Given the description of an element on the screen output the (x, y) to click on. 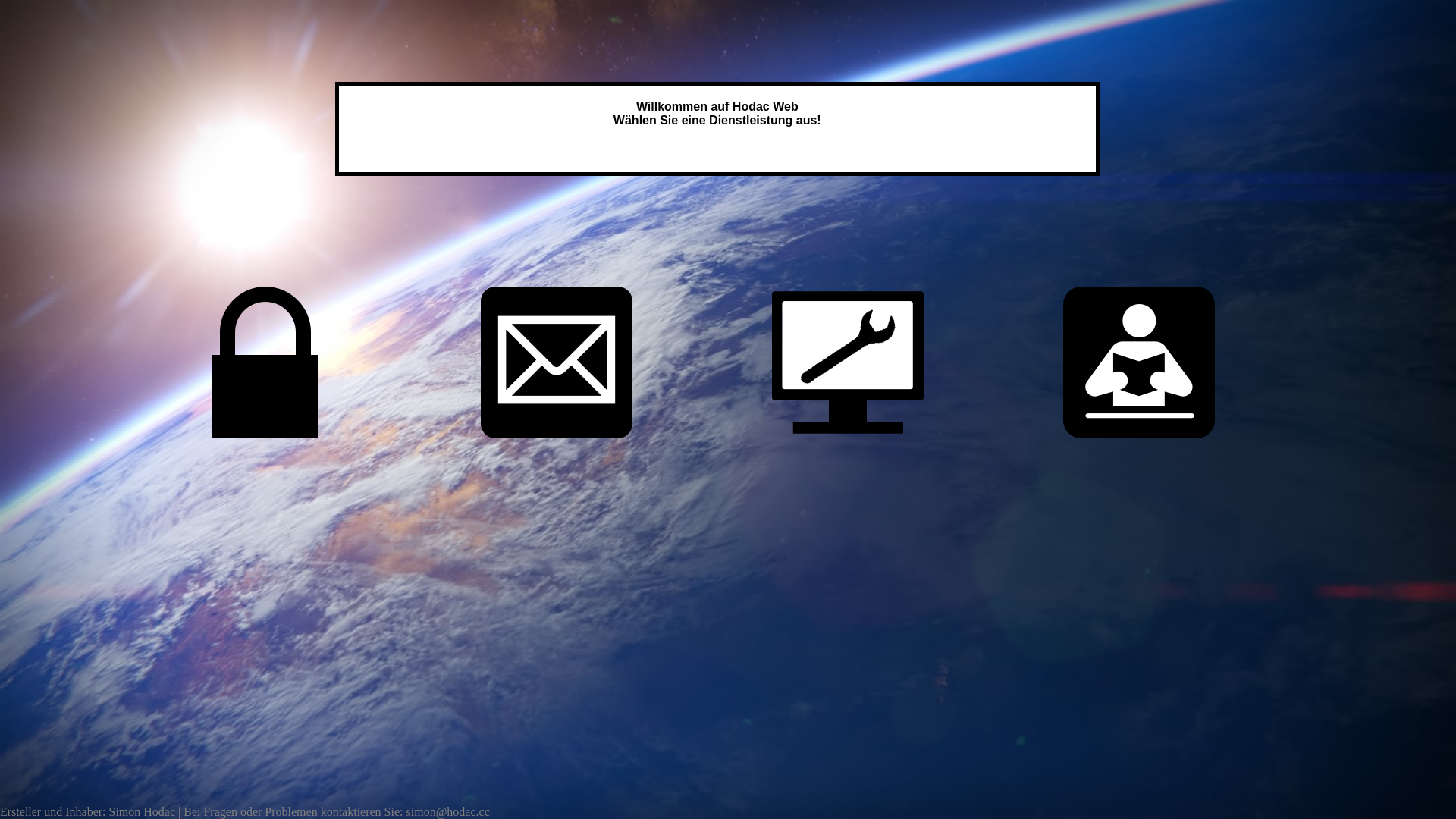
simon@hodac.cc Element type: text (447, 811)
